Given the description of an element on the screen output the (x, y) to click on. 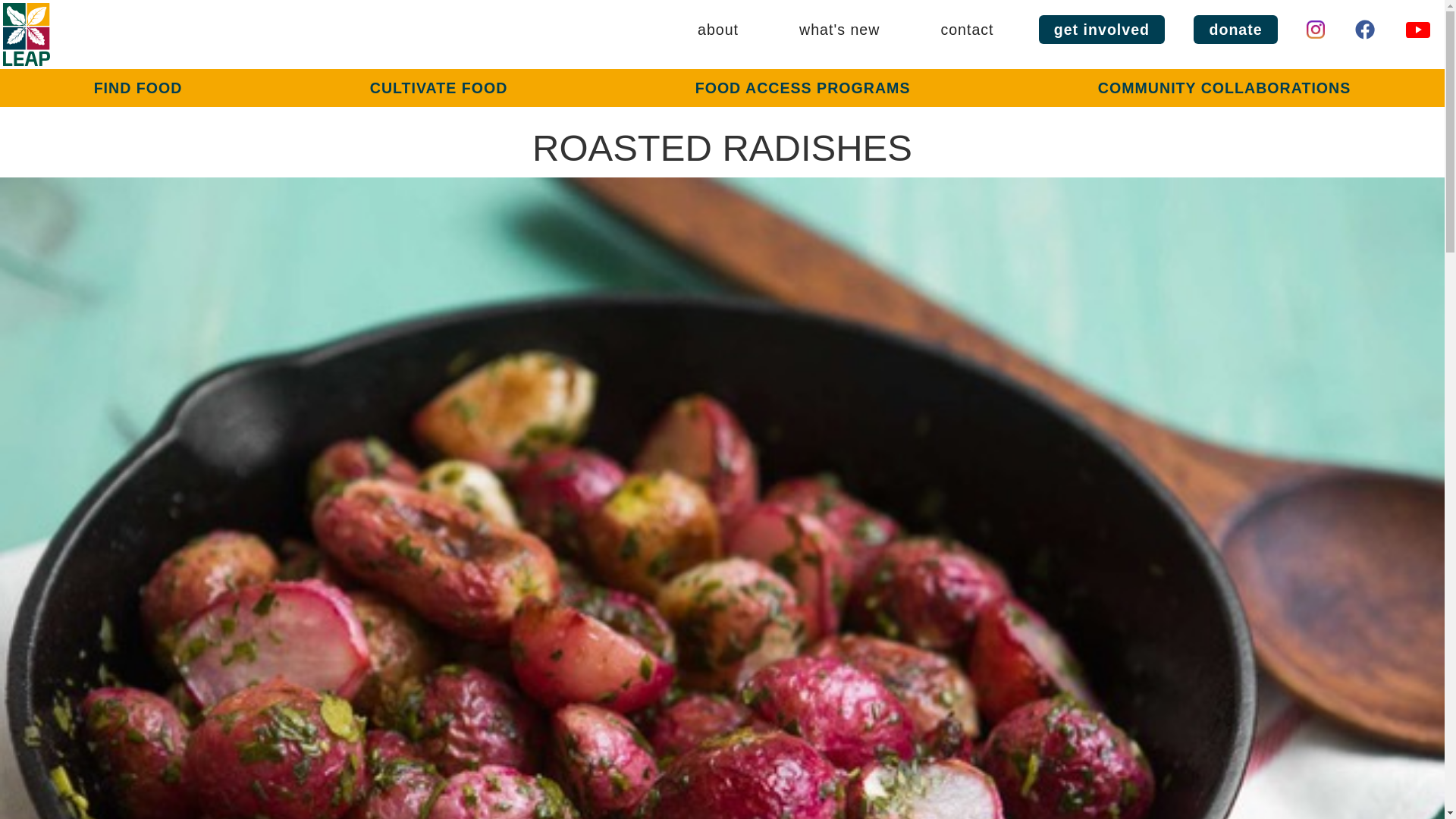
CULTIVATE FOOD (438, 87)
about (717, 29)
what's new (839, 29)
FOOD ACCESS PROGRAMS (802, 87)
FIND FOOD (138, 87)
donate (1234, 29)
COMMUNITY COLLABORATIONS (1225, 87)
contact (966, 29)
get involved (1101, 29)
